Given the description of an element on the screen output the (x, y) to click on. 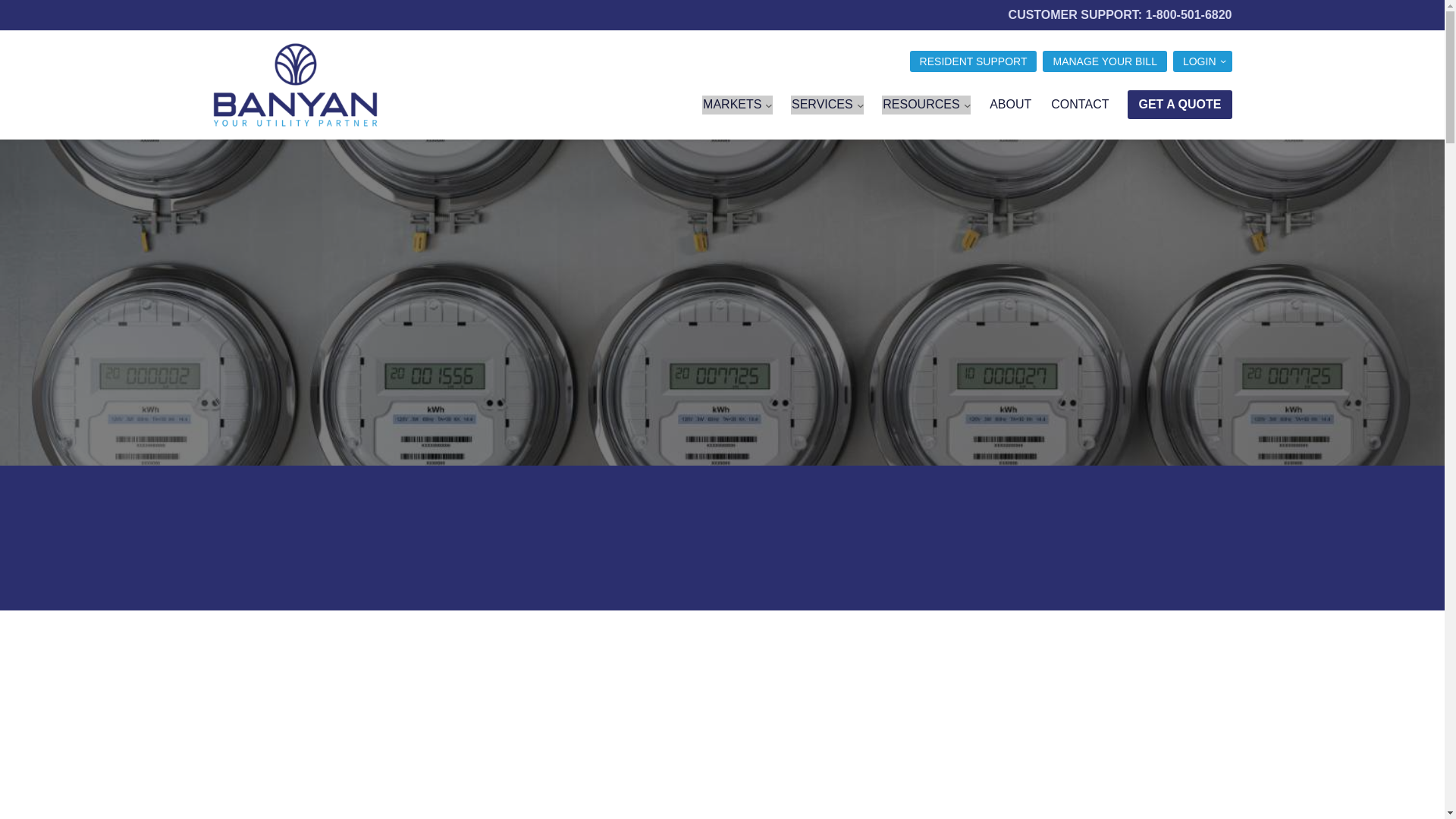
RESOURCES (926, 104)
RESIDENT SUPPORT (973, 61)
CUSTOMER SUPPORT: 1-800-501-6820 (1120, 14)
MANAGE YOUR BILL (1104, 61)
MARKETS (737, 104)
SERVICES (826, 104)
LOGIN (1202, 61)
